Given the description of an element on the screen output the (x, y) to click on. 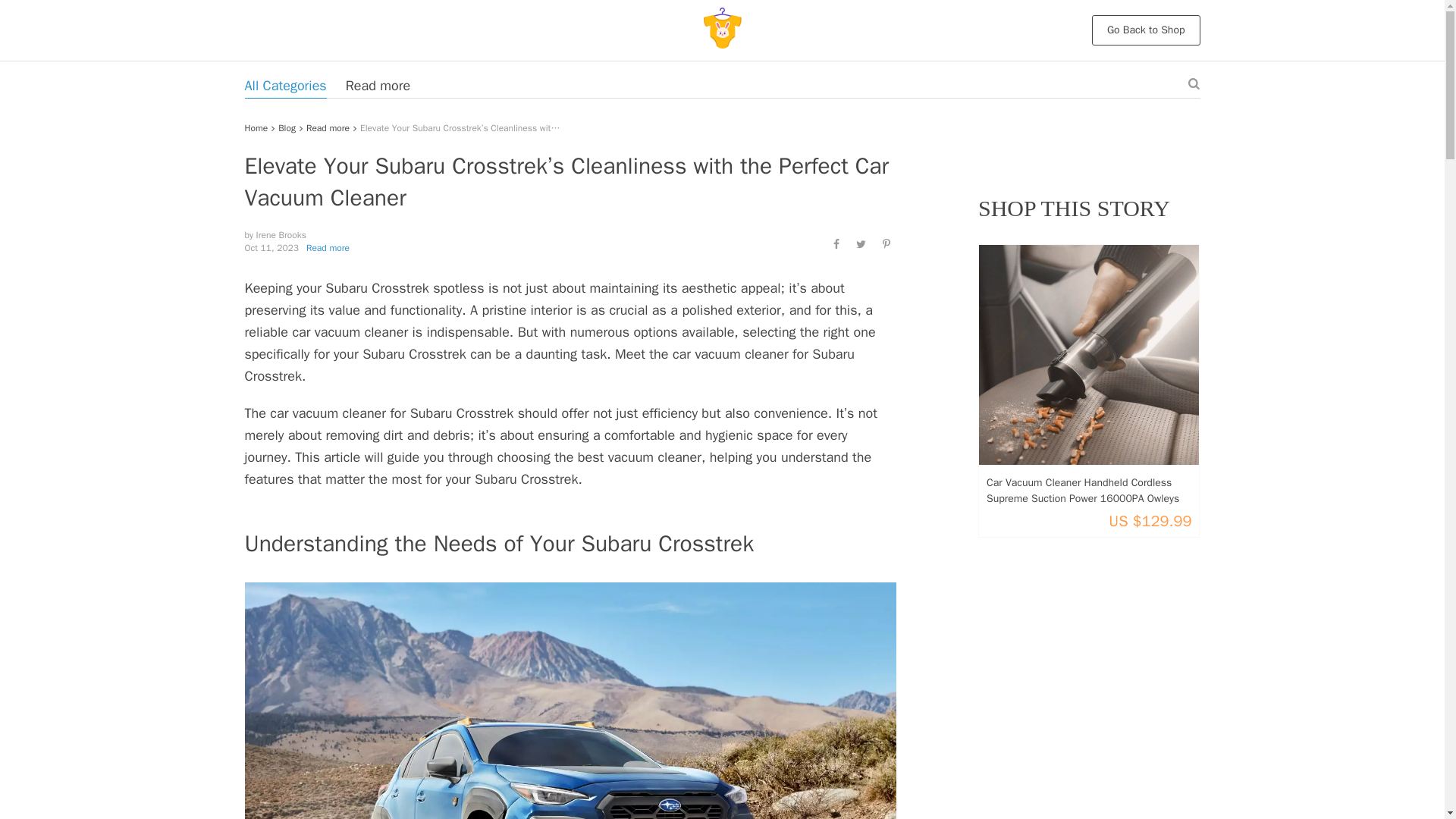
Read more (327, 247)
Read more (327, 128)
All Categories (285, 85)
Blog (286, 128)
Read more (378, 85)
Go Back to Shop (1145, 30)
Home (255, 128)
